Given the description of an element on the screen output the (x, y) to click on. 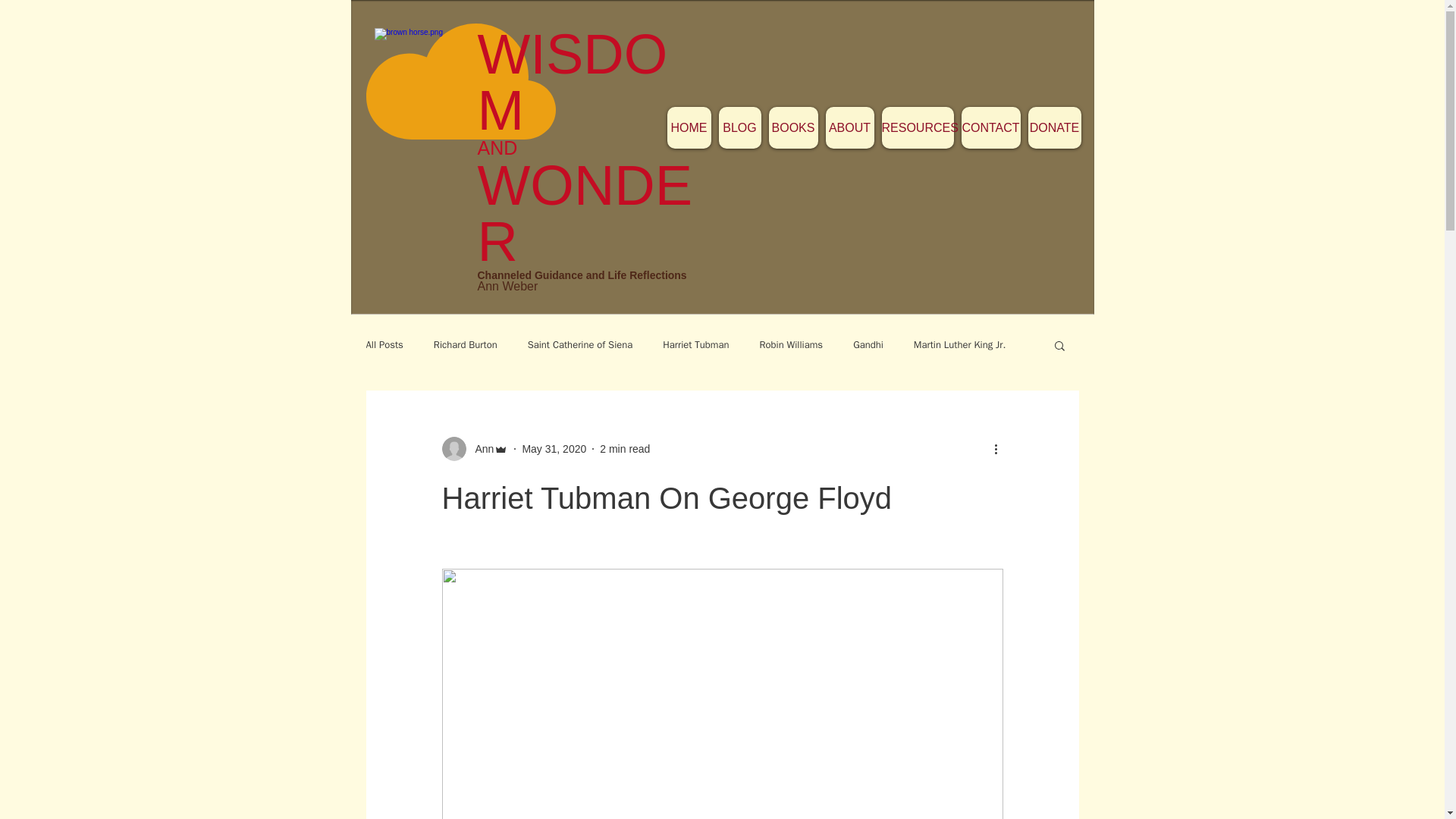
May 31, 2020 (553, 449)
RESOURCES (916, 127)
Ann (479, 449)
2 min read (624, 449)
CONTACT (990, 127)
Harriet Tubman (695, 345)
Saint Catherine of Siena (580, 345)
WISDOM  (572, 81)
Martin Luther King Jr. (960, 345)
AND  (505, 147)
WONDER (585, 212)
BLOG (740, 127)
ABOUT (849, 127)
Richard Burton (465, 345)
DONATE (1054, 127)
